Given the description of an element on the screen output the (x, y) to click on. 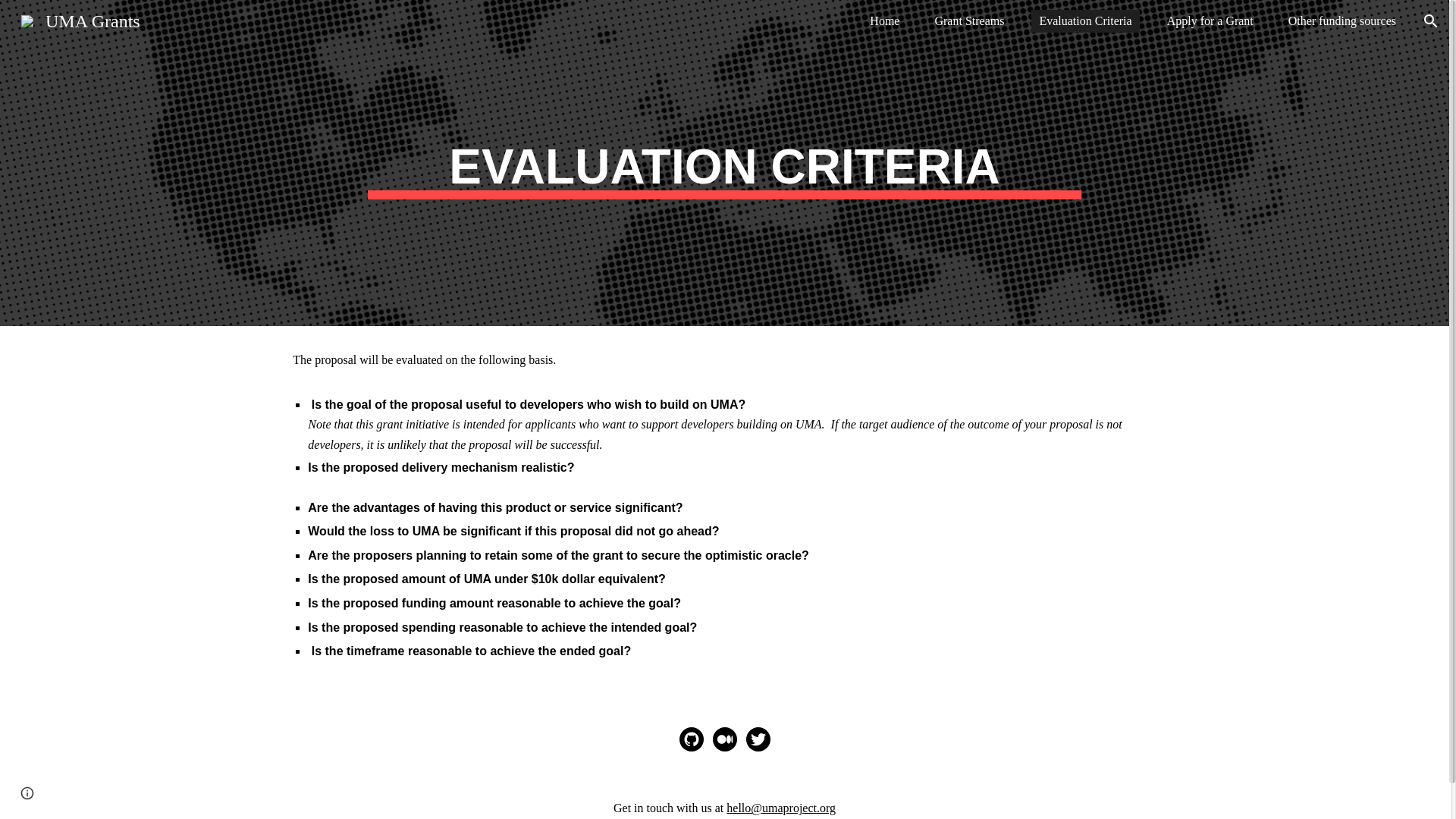
Home (884, 20)
Evaluation Criteria (1084, 20)
Apply for a Grant (1209, 20)
Grant Streams (968, 20)
Other funding sources (1342, 20)
UMA Grants (80, 19)
